Given the description of an element on the screen output the (x, y) to click on. 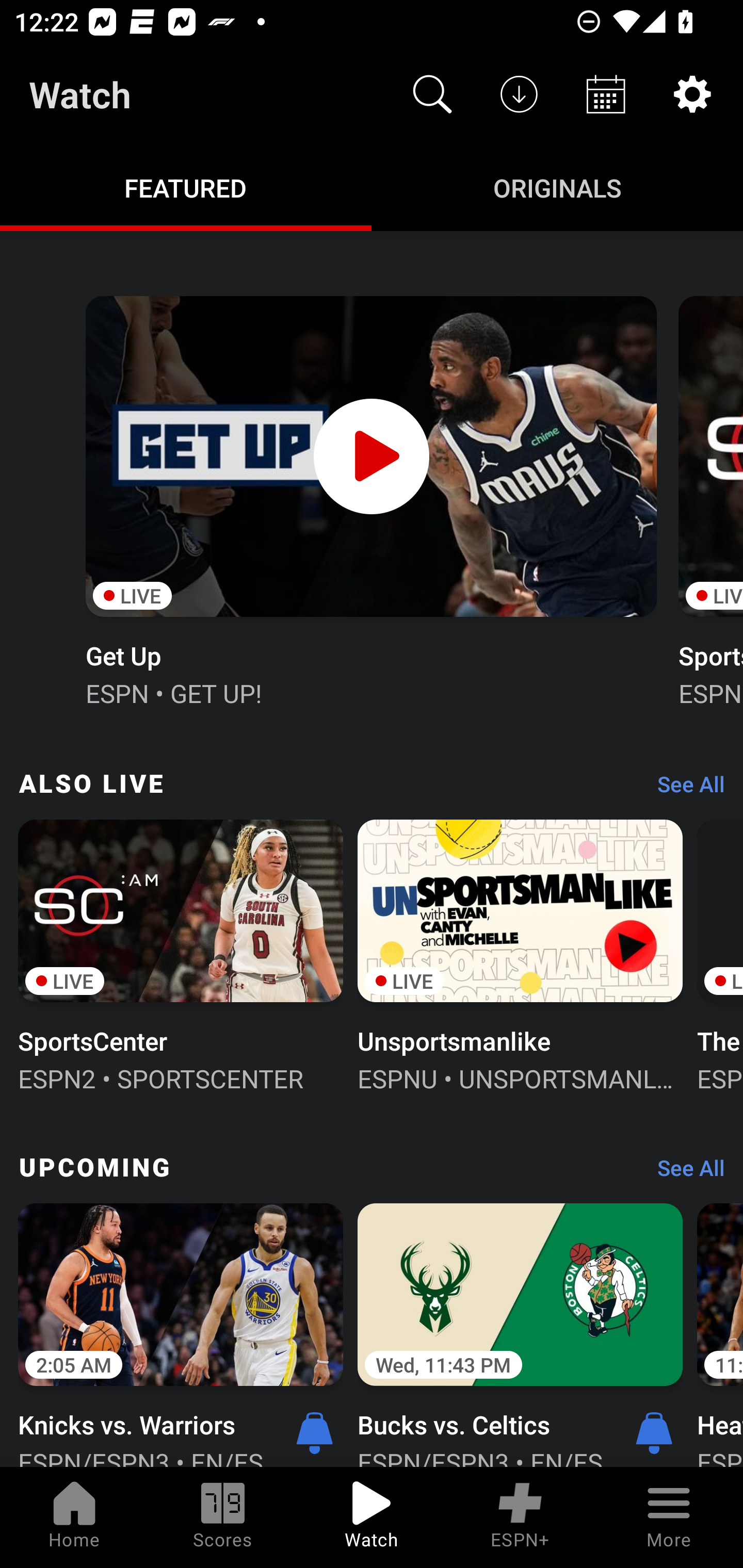
Search (432, 93)
Downloads (518, 93)
Schedule (605, 93)
Settings (692, 93)
Originals ORIGINALS (557, 187)
 LIVE Get Up ESPN • GET UP! (370, 499)
See All (683, 788)
LIVE SportsCenter ESPN2 • SPORTSCENTER (180, 954)
See All (683, 1172)
Home (74, 1517)
Scores (222, 1517)
ESPN+ (519, 1517)
More (668, 1517)
